Given the description of an element on the screen output the (x, y) to click on. 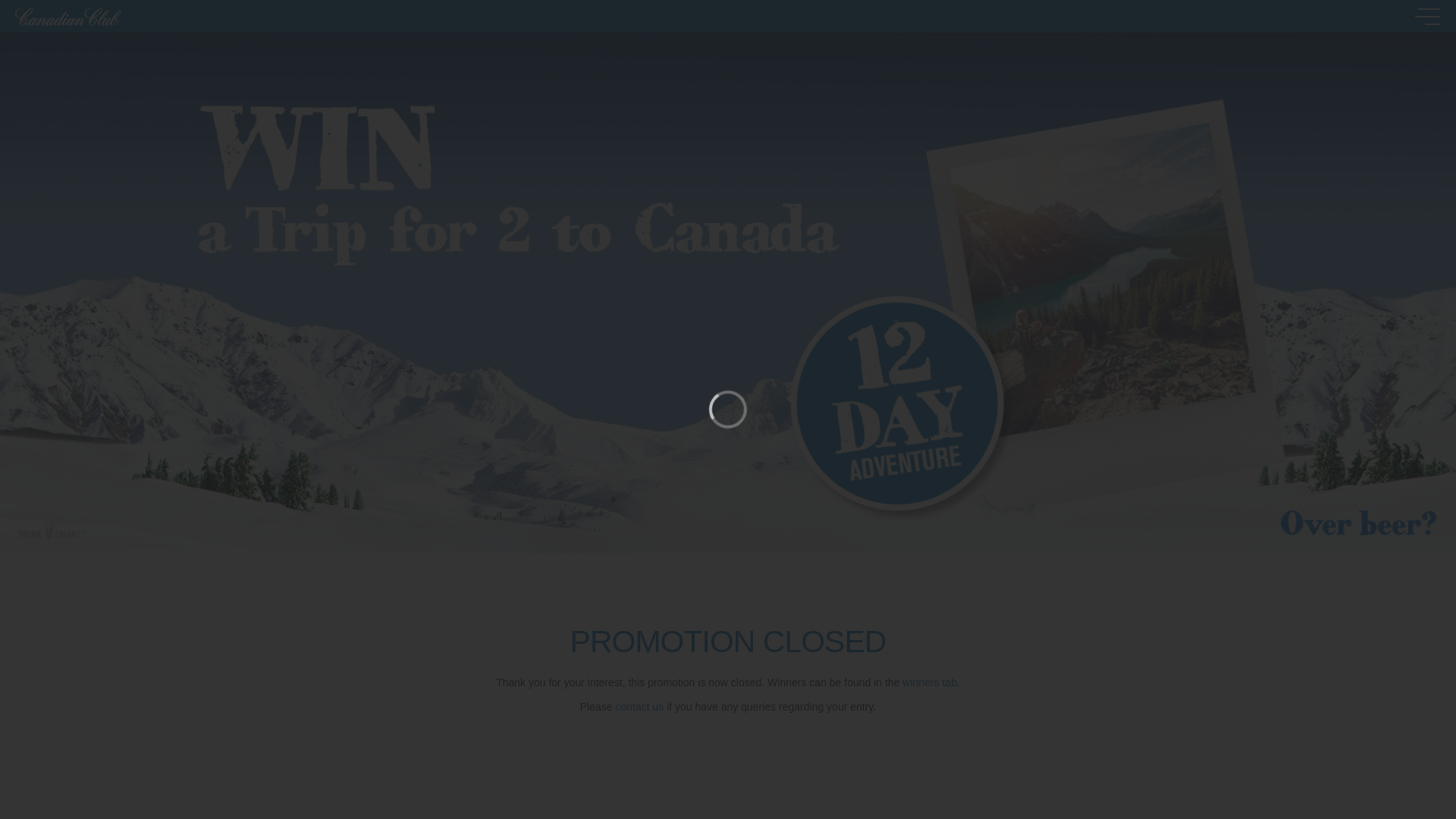
winners tab (929, 682)
